Given the description of an element on the screen output the (x, y) to click on. 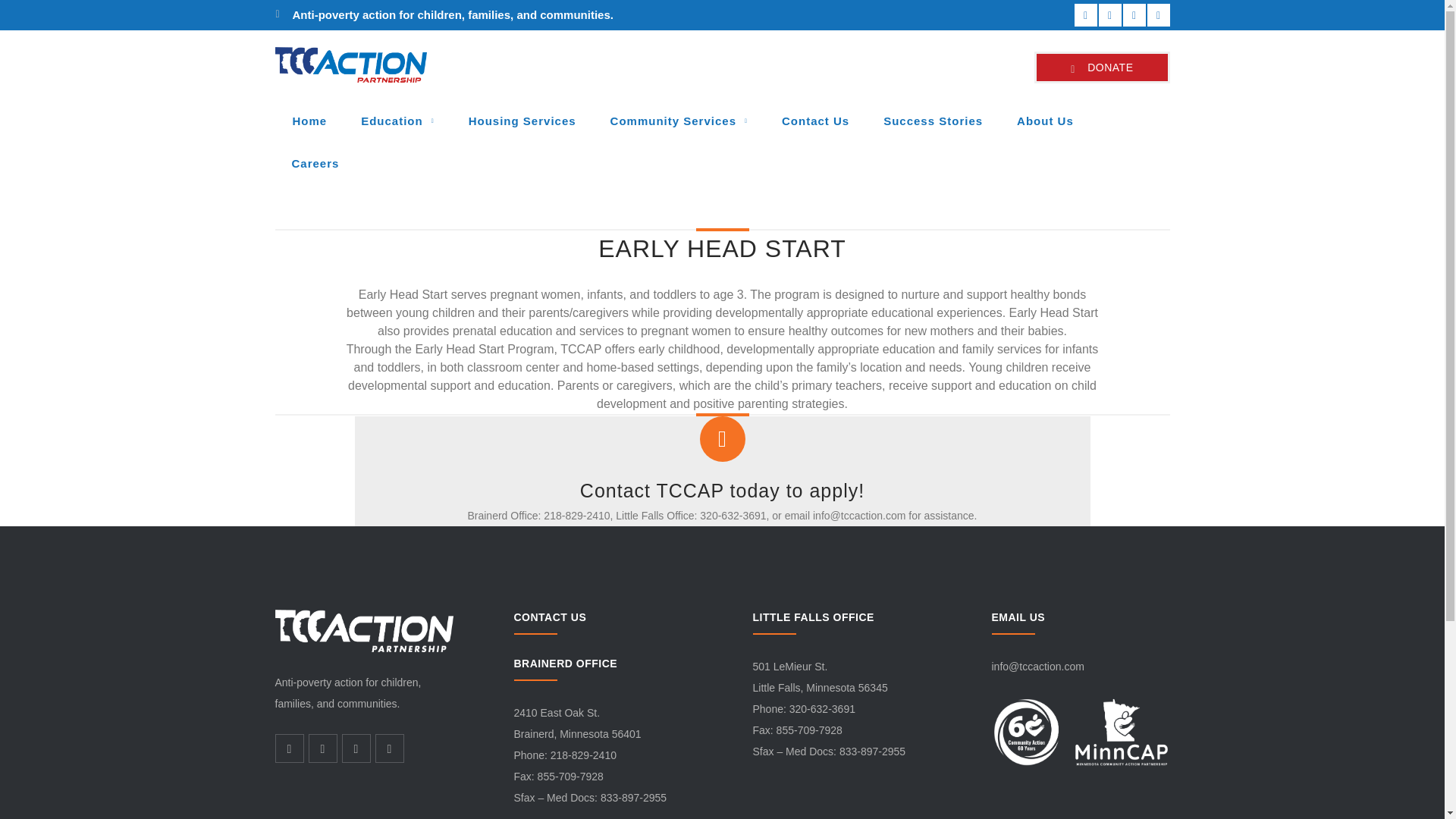
Contact TCCAP today to apply! (721, 490)
Housing Services (522, 120)
Contact Us (814, 120)
DONATE (1101, 67)
Education (397, 120)
Instagram Profile (1158, 15)
LinkedIn (1133, 15)
Facebook (1085, 15)
LinkedIn Profile (1133, 15)
TCC Action Partnership (350, 63)
